Given the description of an element on the screen output the (x, y) to click on. 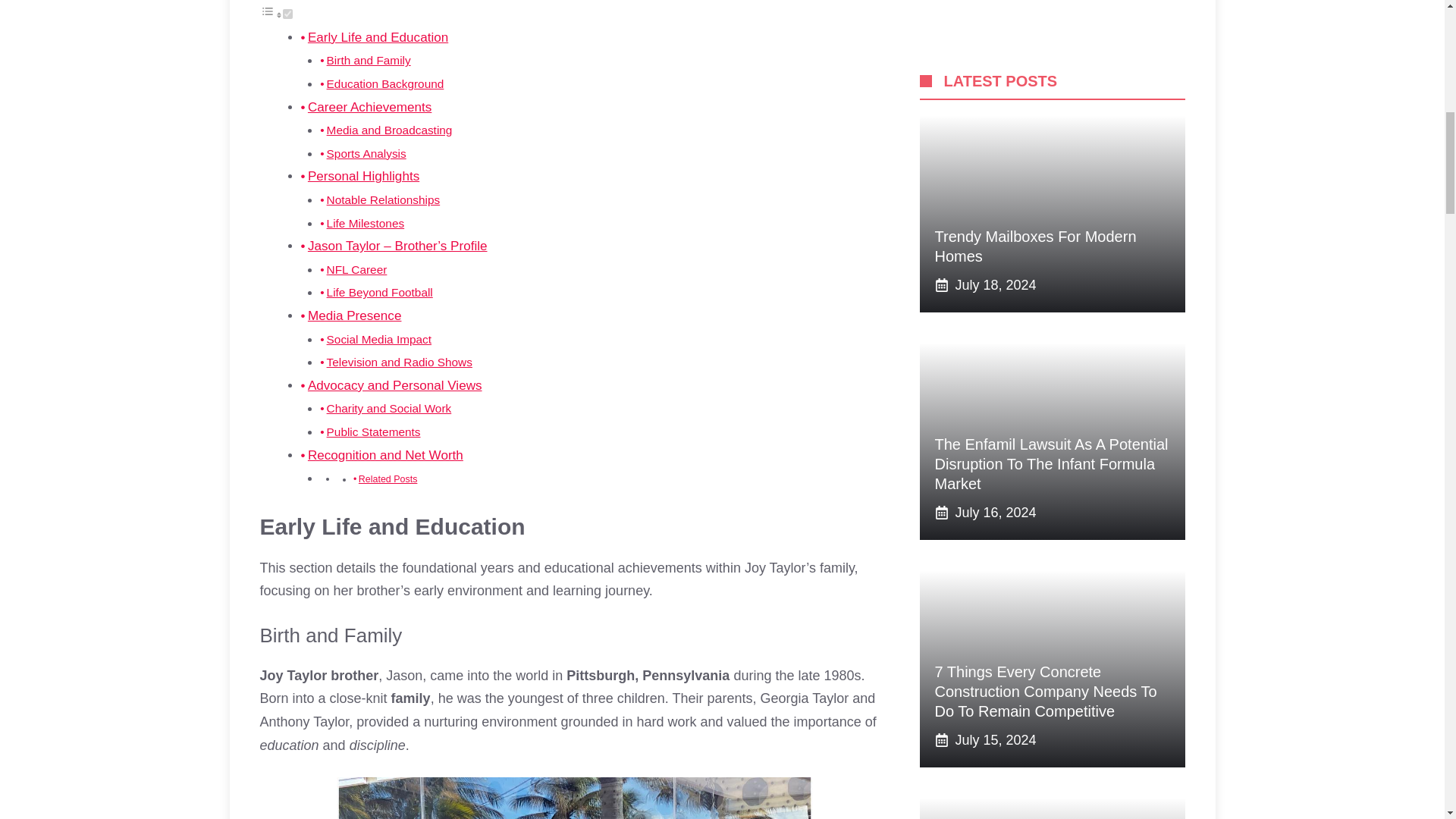
Notable Relationships (383, 199)
Notable Relationships (383, 199)
Life Milestones (365, 223)
Career Achievements (368, 106)
Life Beyond Football (379, 291)
Sports Analysis (366, 153)
Public Statements (373, 431)
Education Background (385, 83)
Social Media Impact (378, 338)
Education Background (385, 83)
